Given the description of an element on the screen output the (x, y) to click on. 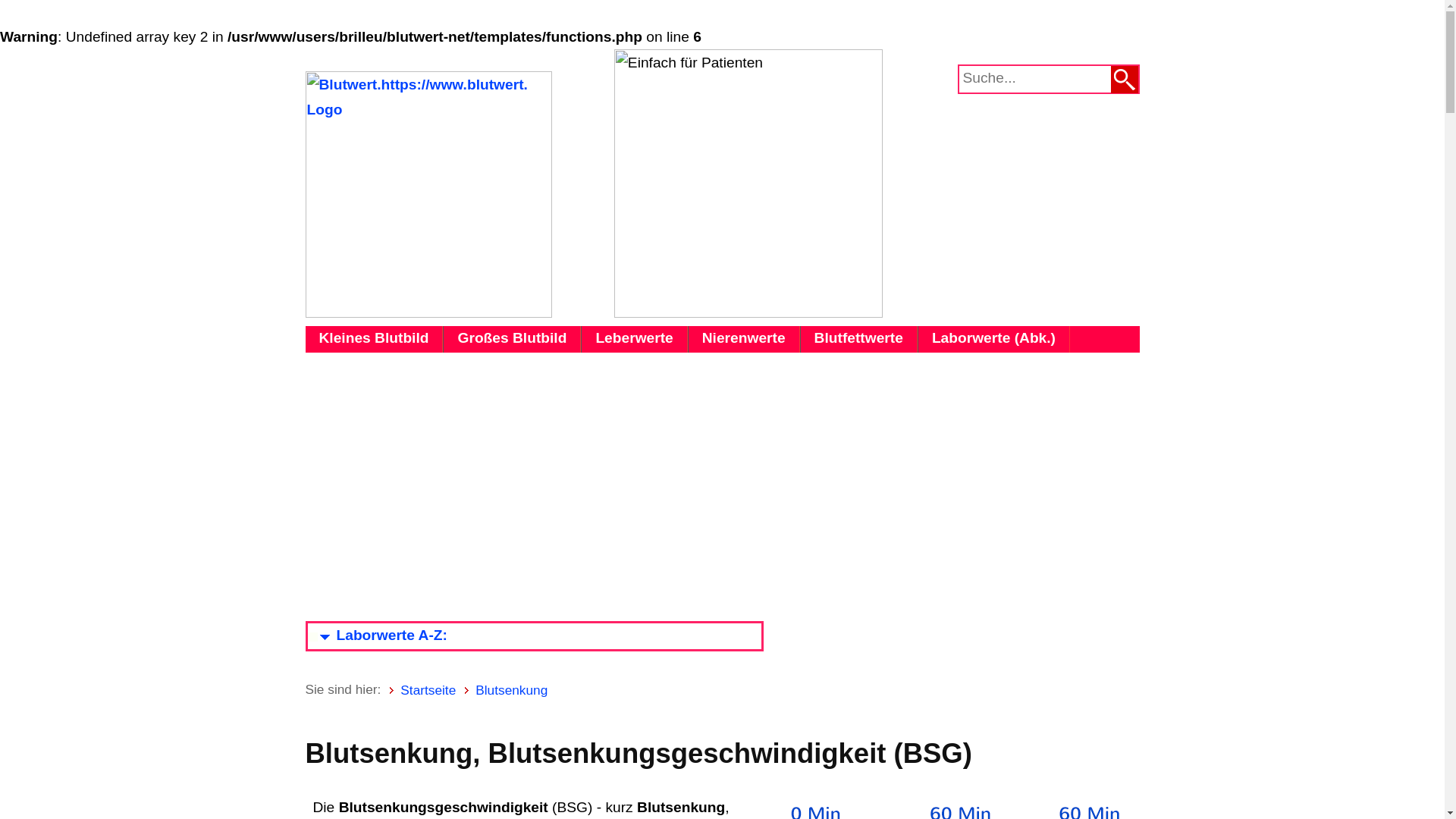
Startseite Element type: text (427, 689)
Leberwerte Element type: text (633, 339)
Blutsenkung Element type: text (511, 689)
Blutfettwerte Element type: text (858, 339)
Laborwerte A-Z: Element type: text (377, 635)
Advertisement Element type: hover (721, 481)
Laborwerte (Abk.) Element type: text (993, 339)
Nierenwerte Element type: text (743, 339)
  Element type: text (1123, 79)
Kleines Blutbild Element type: text (373, 339)
